Given the description of an element on the screen output the (x, y) to click on. 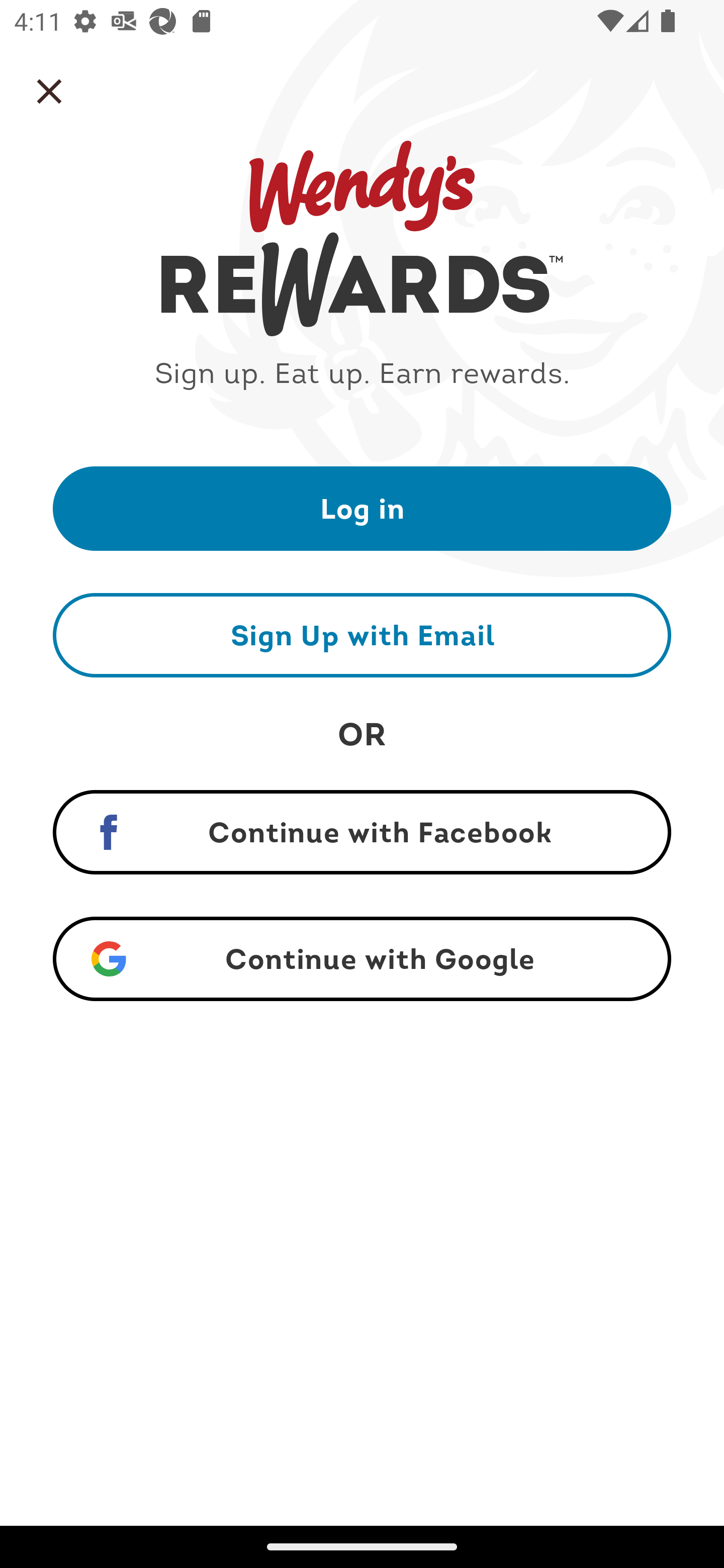
close (49, 91)
Log in (361, 507)
Sign Up with Email (361, 634)
Continue with Facebook (361, 832)
Continue with Google (361, 958)
